Given the description of an element on the screen output the (x, y) to click on. 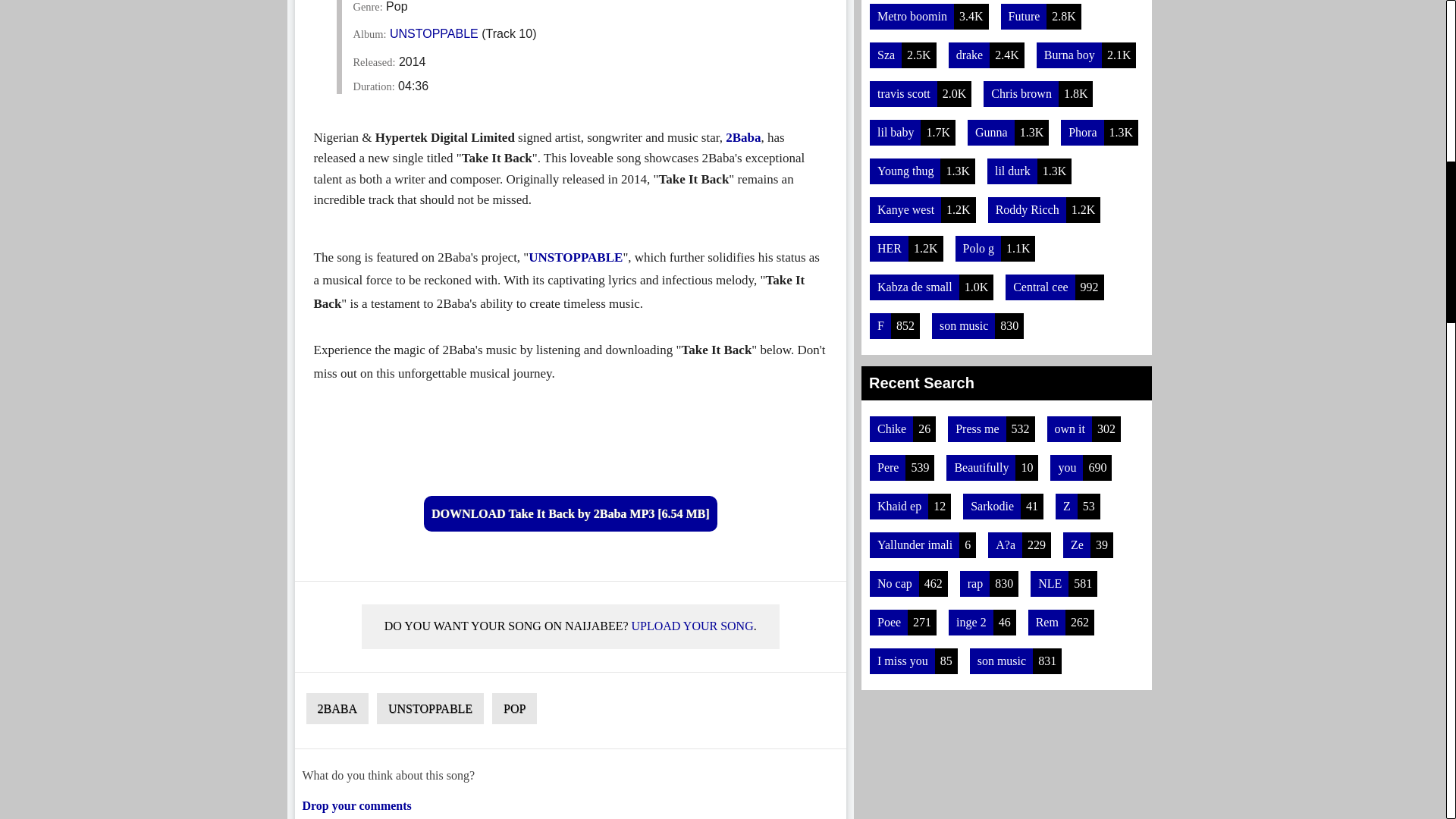
UNSTOPPABLE (575, 257)
UNSTOPPABLE (434, 33)
2Baba (742, 137)
Music Player (569, 437)
